Given the description of an element on the screen output the (x, y) to click on. 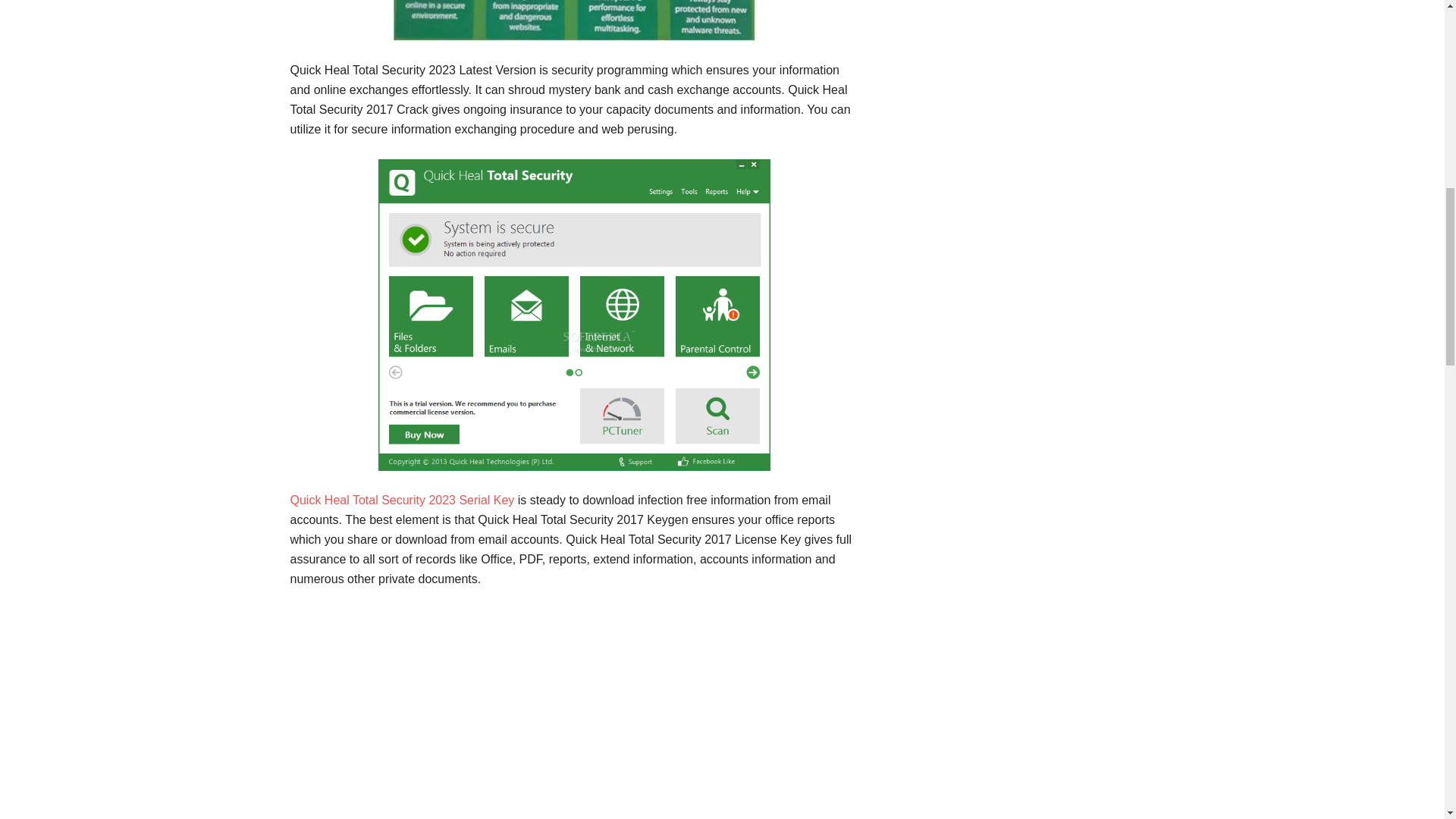
Quick Heal Total Security 2023 Serial Key (401, 499)
